Given the description of an element on the screen output the (x, y) to click on. 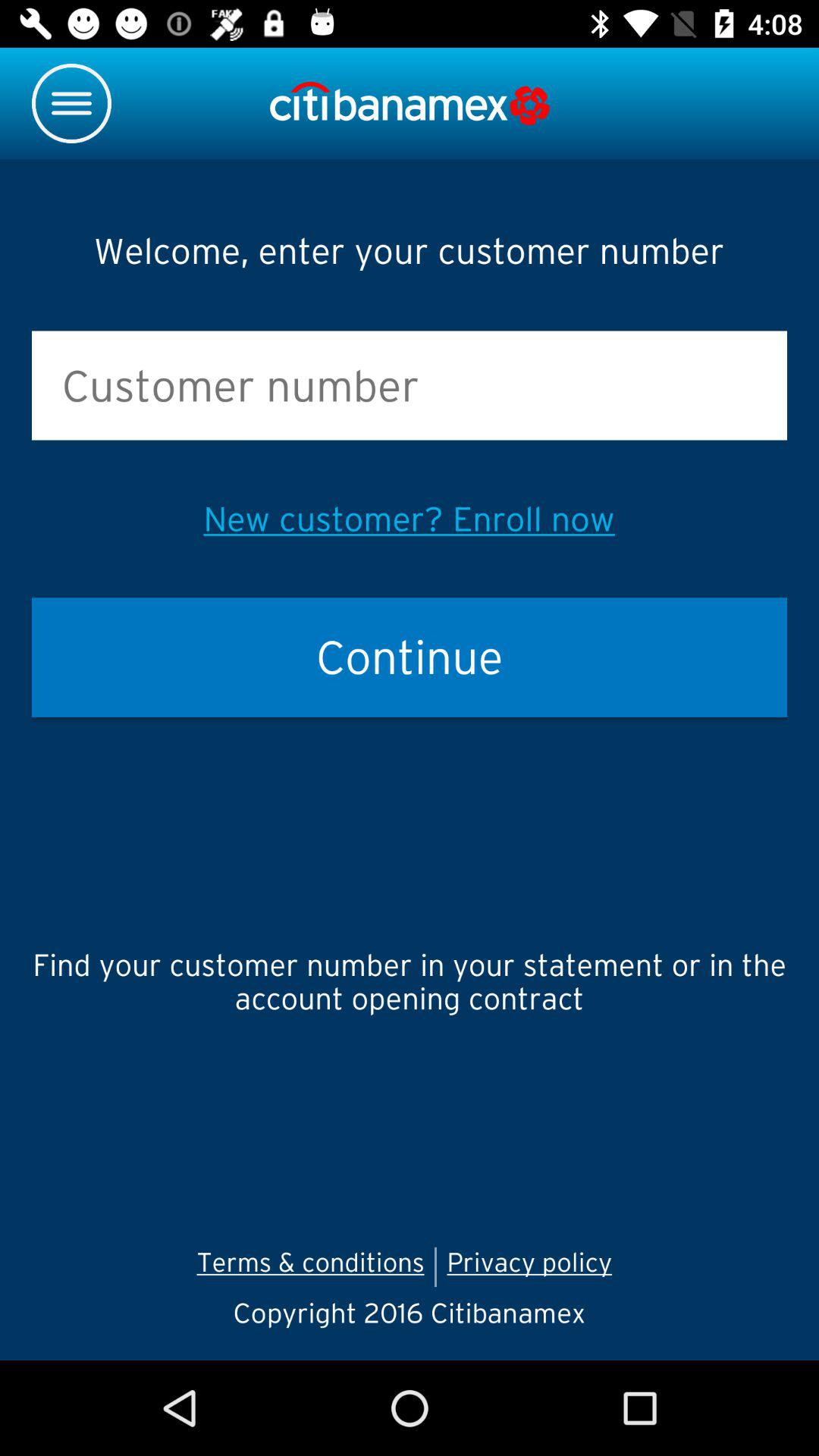
press the icon below the find your customer item (310, 1267)
